Given the description of an element on the screen output the (x, y) to click on. 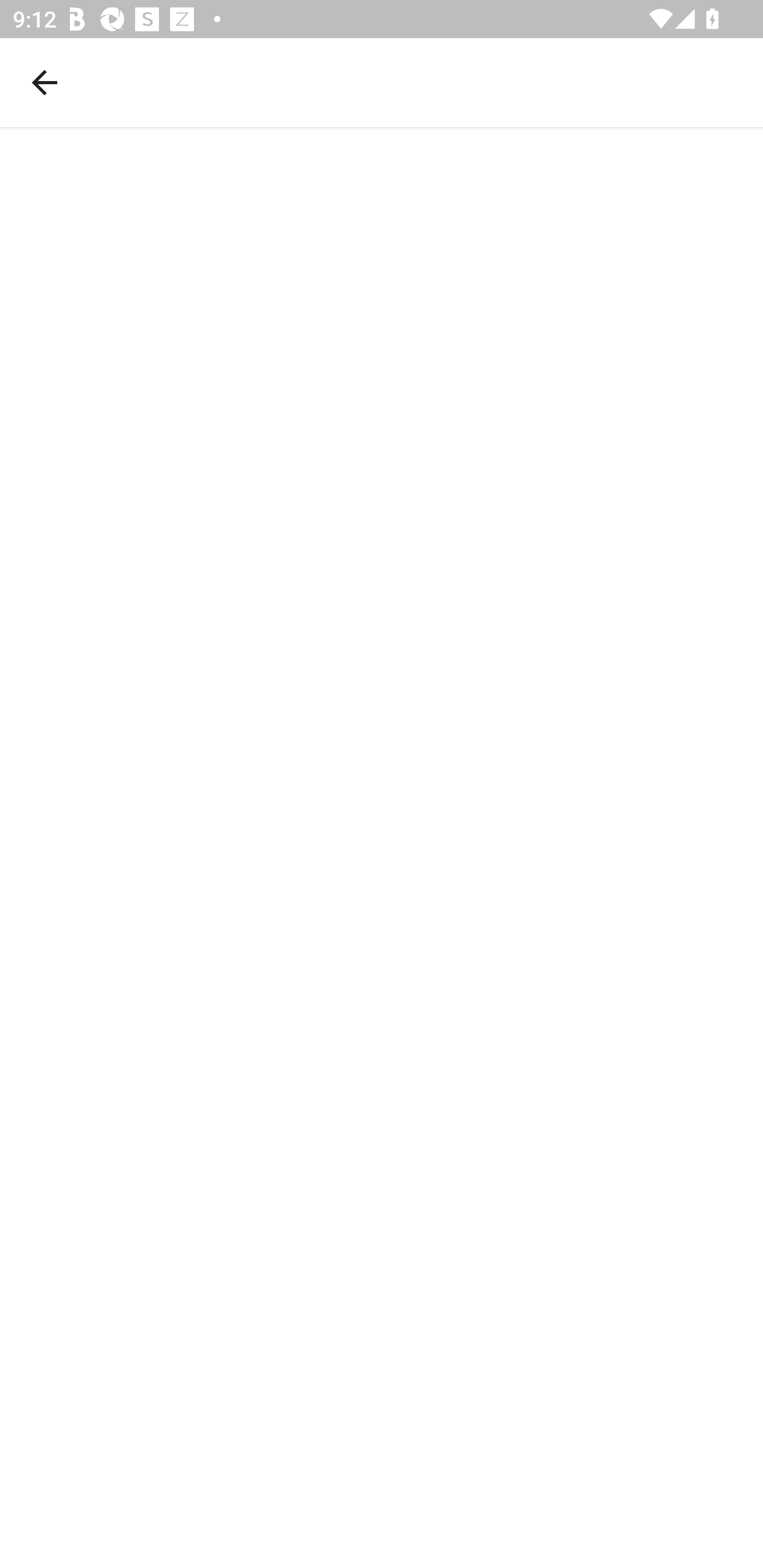
Navigate up (44, 82)
